Given the description of an element on the screen output the (x, y) to click on. 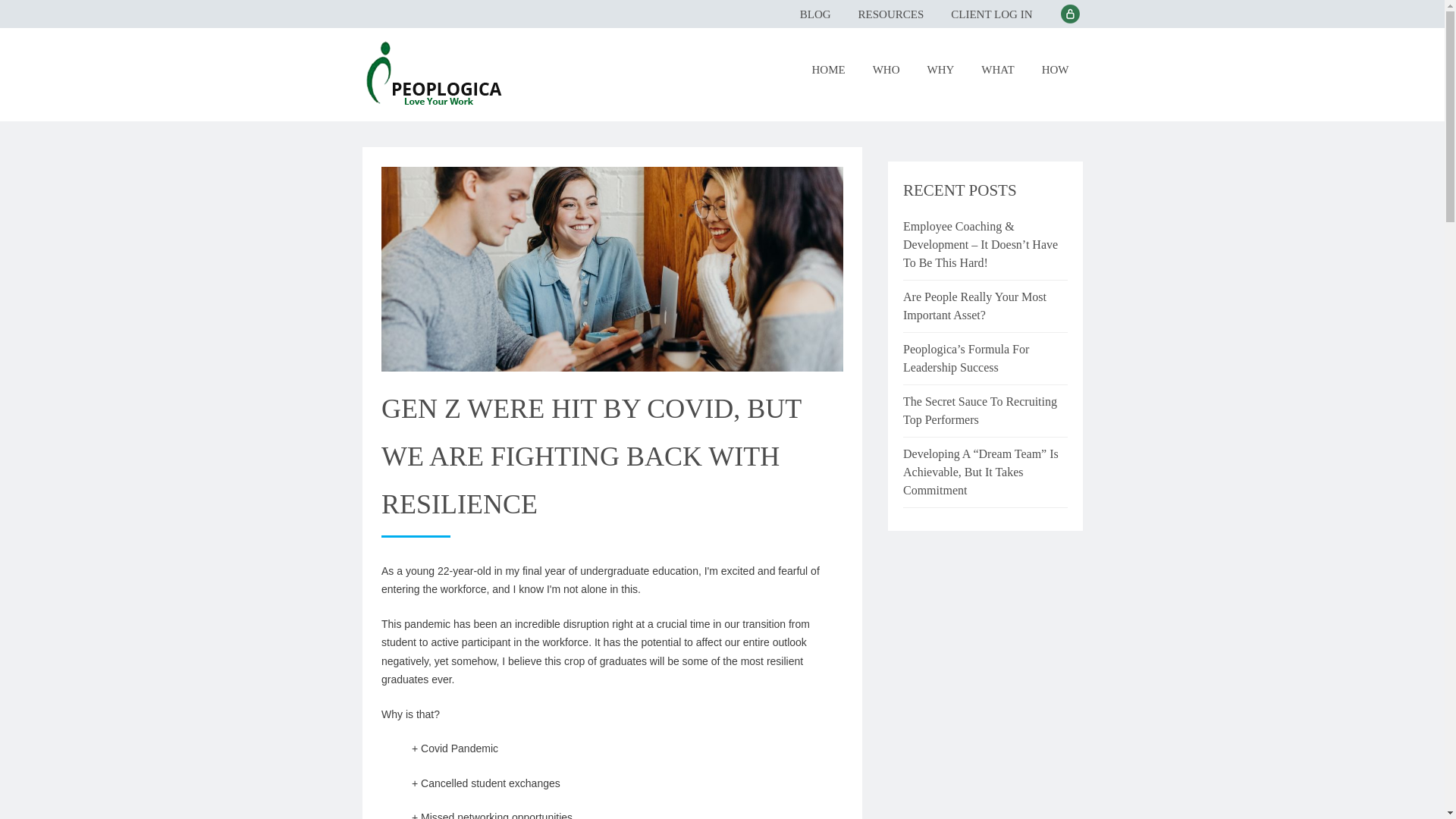
HOW (1055, 71)
Permalink to Are People Really Your Most Important Asset? (984, 306)
The Secret Sauce To Recruiting Top Performers (984, 411)
Are People Really Your Most Important Asset? (984, 306)
WHO (886, 71)
WHAT (997, 71)
HOME (828, 71)
CLIENT LOG IN (991, 16)
WHY (941, 71)
RESOURCES (890, 16)
BLOG (815, 16)
Permalink to The Secret Sauce To Recruiting Top Performers (984, 411)
